Given the description of an element on the screen output the (x, y) to click on. 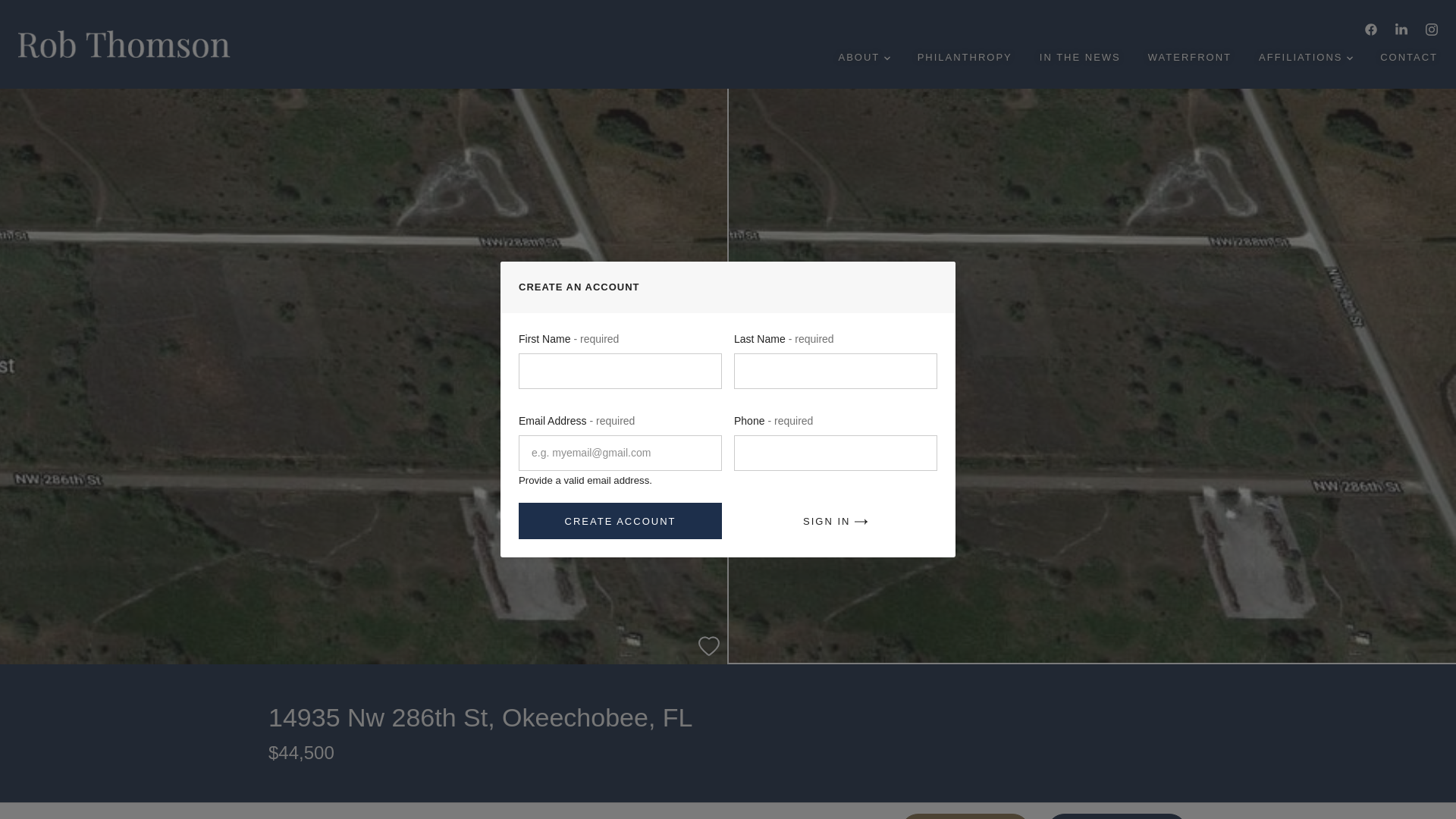
IN THE NEWS (1079, 57)
REQUEST INFO (964, 816)
REQUEST SHOWING (680, 811)
DROPDOWN ARROW (886, 58)
AFFILIATIONS DROPDOWN ARROW (1305, 57)
ASK A QUESTION (1117, 816)
CONTACT (1409, 57)
ABOUT DROPDOWN ARROW (863, 57)
LinkedIn (1400, 29)
Facebook (1371, 29)
WATERFRONT (1189, 57)
OVERVIEW (297, 811)
PHILANTHROPY (964, 57)
DROPDOWN ARROW (1349, 58)
